Given the description of an element on the screen output the (x, y) to click on. 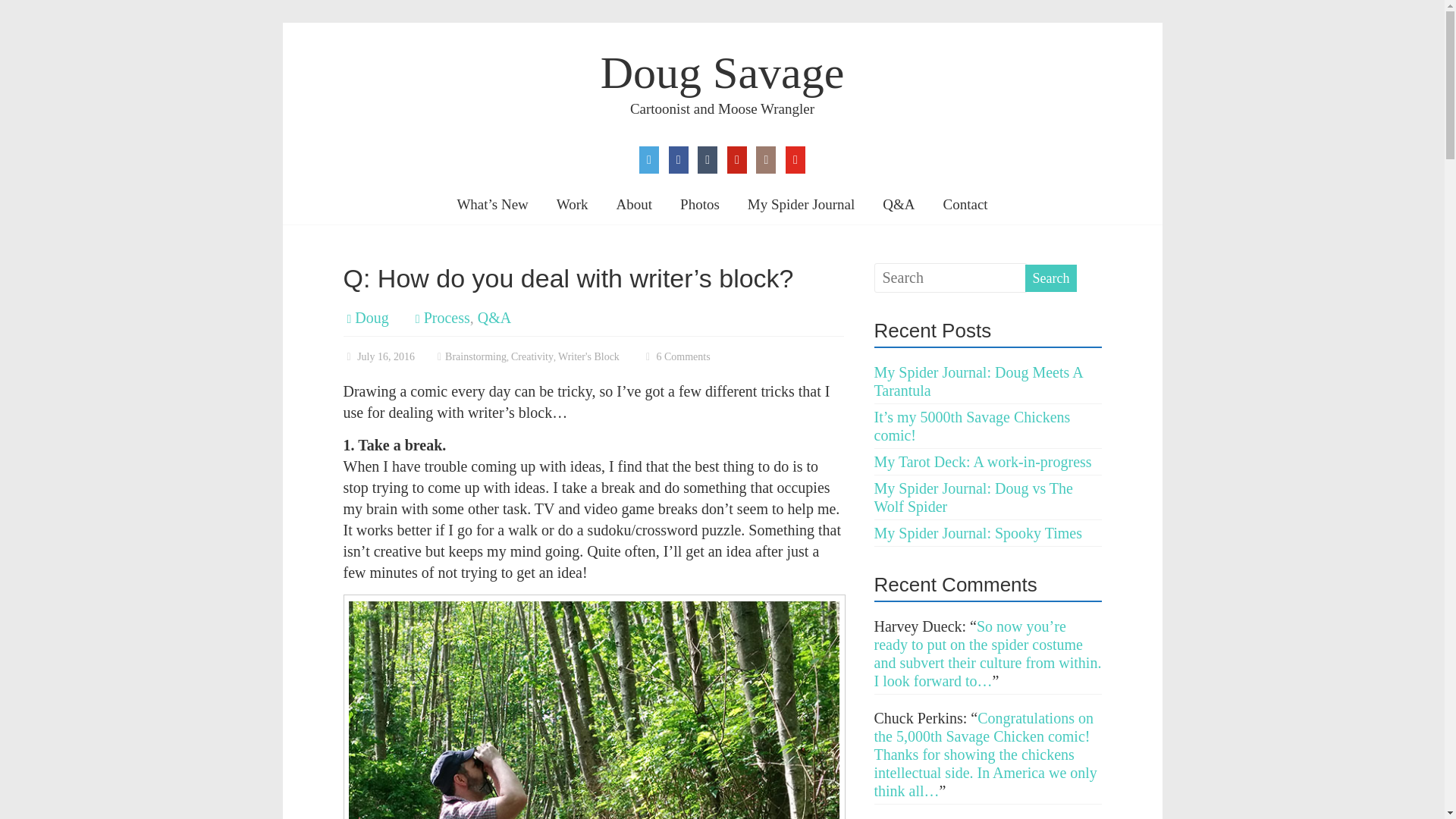
Process (446, 317)
Work (571, 204)
5:45 pm (377, 356)
About (634, 204)
Doug (371, 317)
Doug Savage (721, 72)
Search (1051, 277)
6 Comments (676, 356)
Contact (965, 204)
Doug (371, 317)
